Given the description of an element on the screen output the (x, y) to click on. 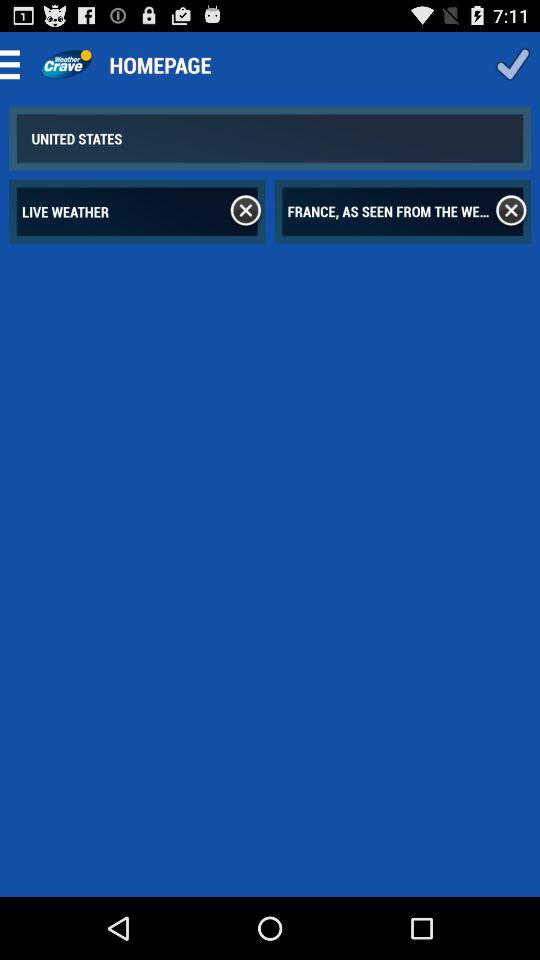
click the icon next to the homepage item (65, 64)
